Given the description of an element on the screen output the (x, y) to click on. 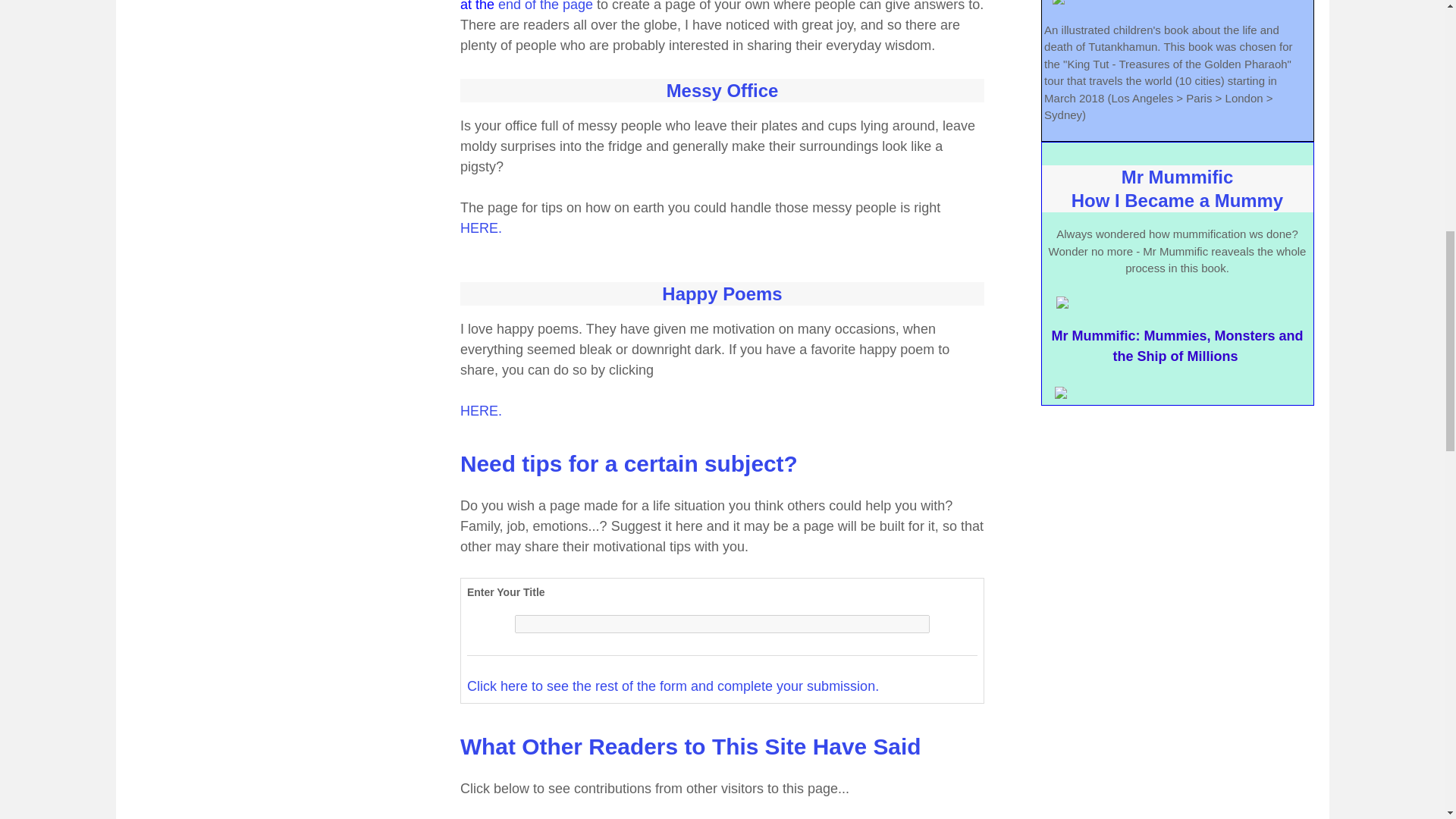
HERE. (481, 410)
HERE. (481, 238)
end of the page (544, 6)
